Given the description of an element on the screen output the (x, y) to click on. 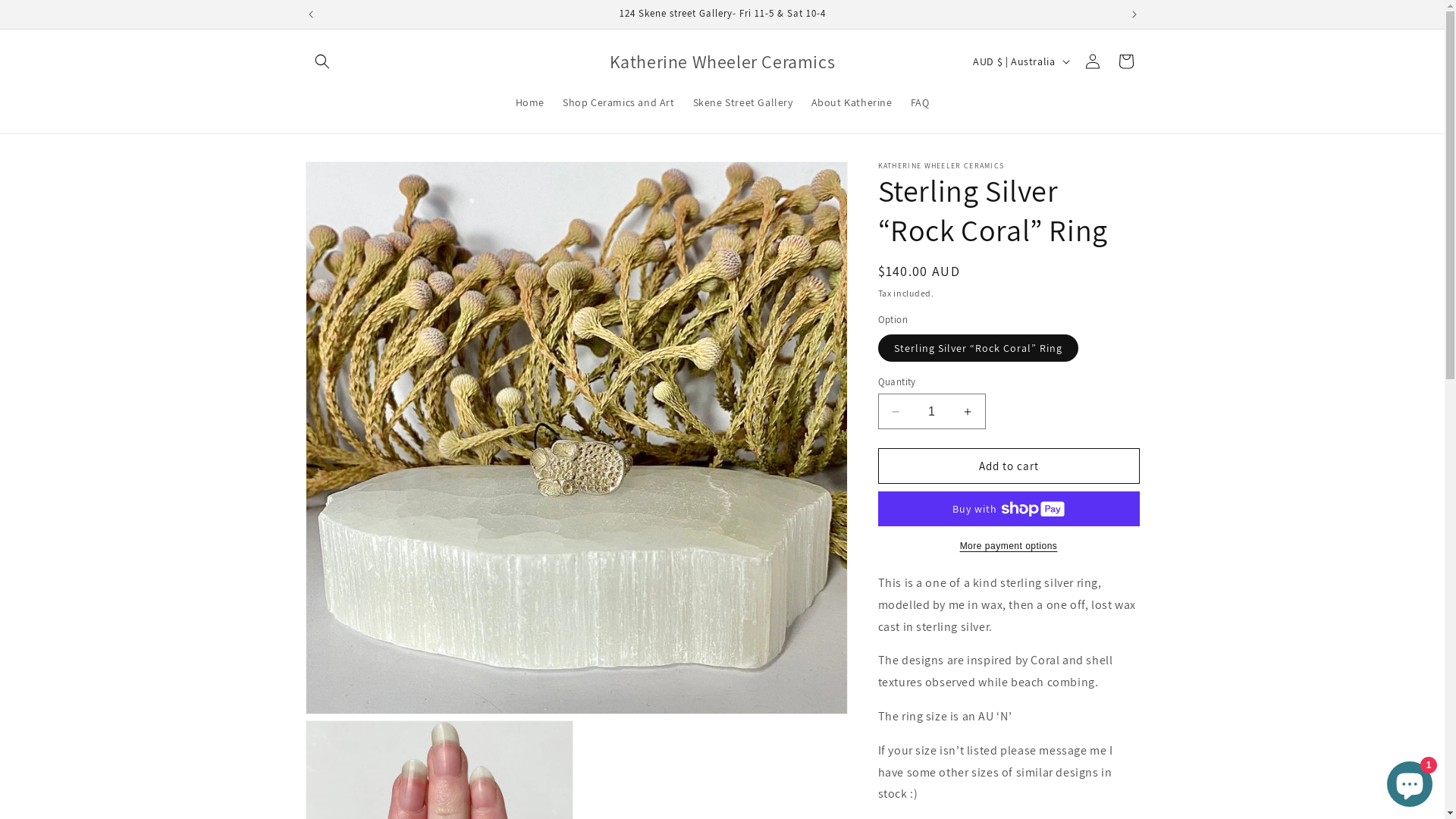
Skip to product information Element type: text (350, 178)
Shop Ceramics and Art Element type: text (618, 102)
Log in Element type: text (1091, 61)
AUD $ | Australia Element type: text (1019, 61)
Skene Street Gallery Element type: text (743, 102)
Shopify online store chat Element type: hover (1409, 780)
Add to cart Element type: text (1008, 465)
FAQ Element type: text (919, 102)
More payment options Element type: text (1008, 545)
Cart Element type: text (1125, 61)
Home Element type: text (529, 102)
Katherine Wheeler Ceramics Element type: text (721, 61)
About Katherine Element type: text (851, 102)
